Given the description of an element on the screen output the (x, y) to click on. 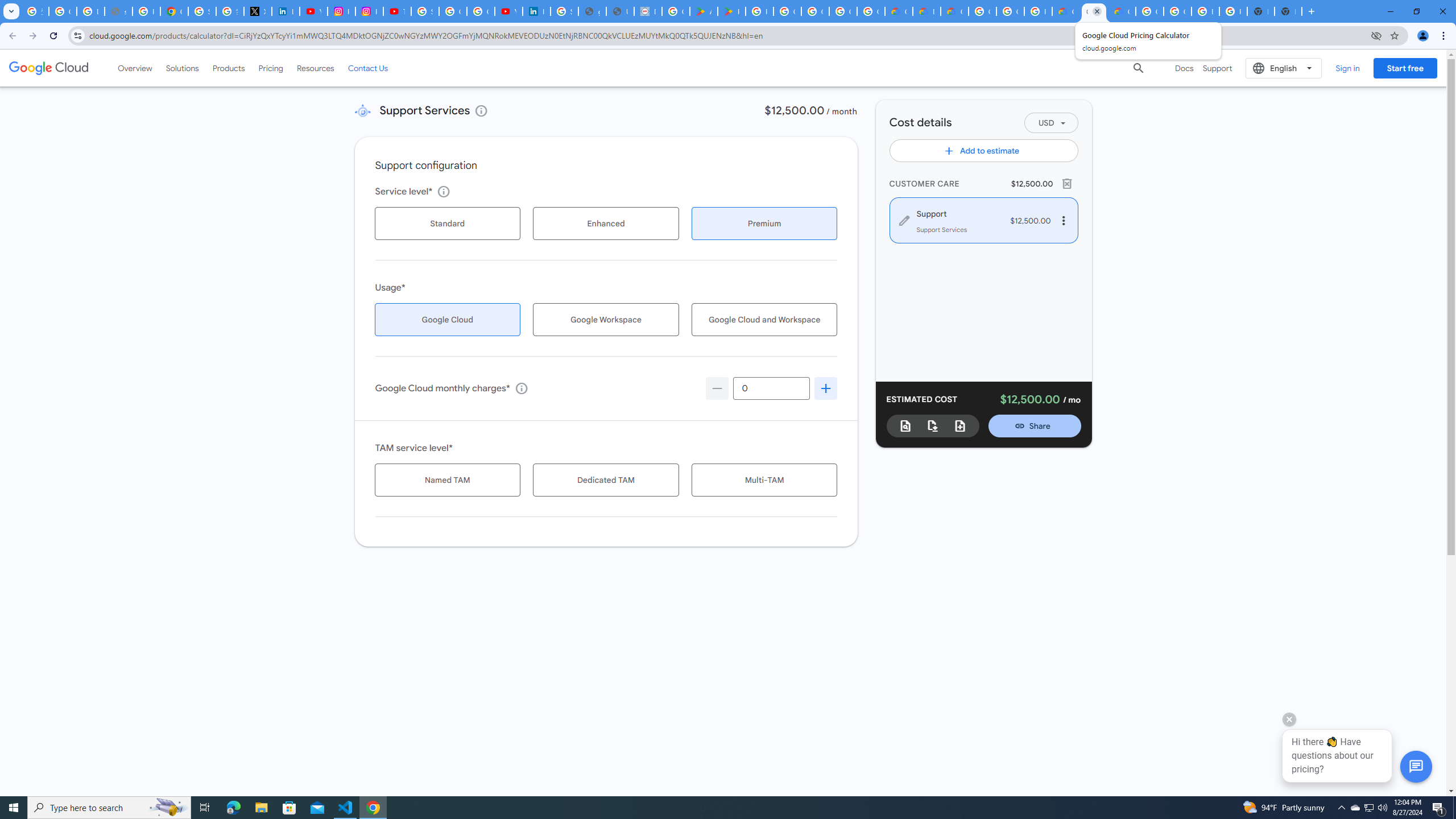
Button to activate chat (1416, 766)
Privacy Help Center - Policies Help (146, 11)
Edit service (903, 219)
Google Workspace - Specific Terms (870, 11)
Delete group (1066, 182)
Open Share Estimate dialog (1034, 425)
Contact Us (368, 67)
